Given the description of an element on the screen output the (x, y) to click on. 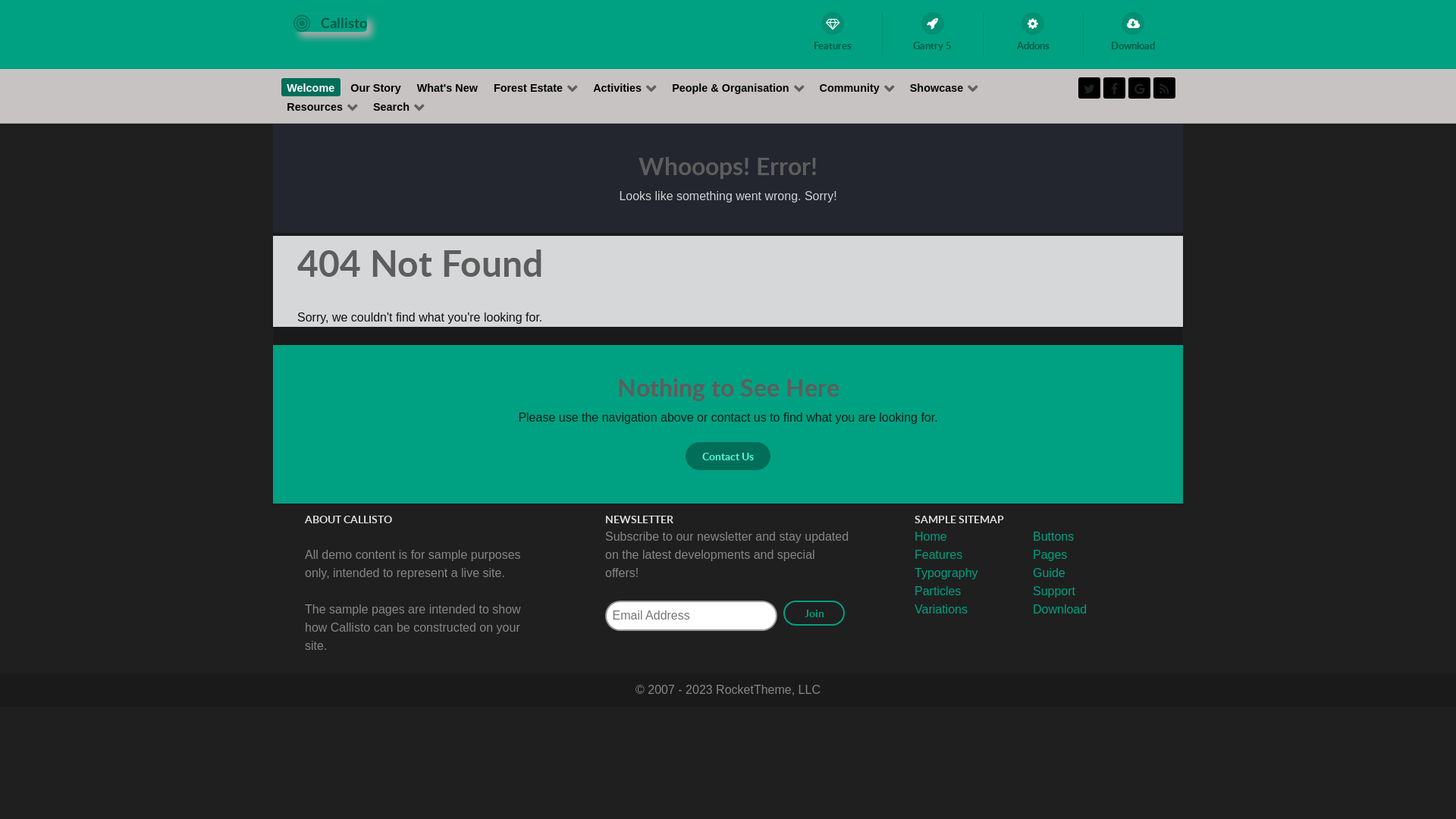
Download Element type: text (1059, 608)
Typography Element type: text (946, 572)
Addons Element type: text (1032, 34)
Support Element type: text (1053, 590)
Guide Element type: text (1048, 572)
Welcome Element type: text (310, 87)
Our Story Element type: text (375, 87)
Variations Element type: text (940, 608)
Features Element type: text (938, 554)
Gantry 5 Element type: text (932, 34)
Particles Element type: text (937, 590)
Home Element type: text (930, 536)
Pages Element type: text (1049, 554)
What's New Element type: text (447, 87)
Buttons Element type: text (1052, 536)
Join Element type: text (813, 612)
Download Element type: text (1133, 34)
Features Element type: text (832, 34)
Contact Us Element type: text (727, 455)
Callisto Element type: hover (330, 21)
